Given the description of an element on the screen output the (x, y) to click on. 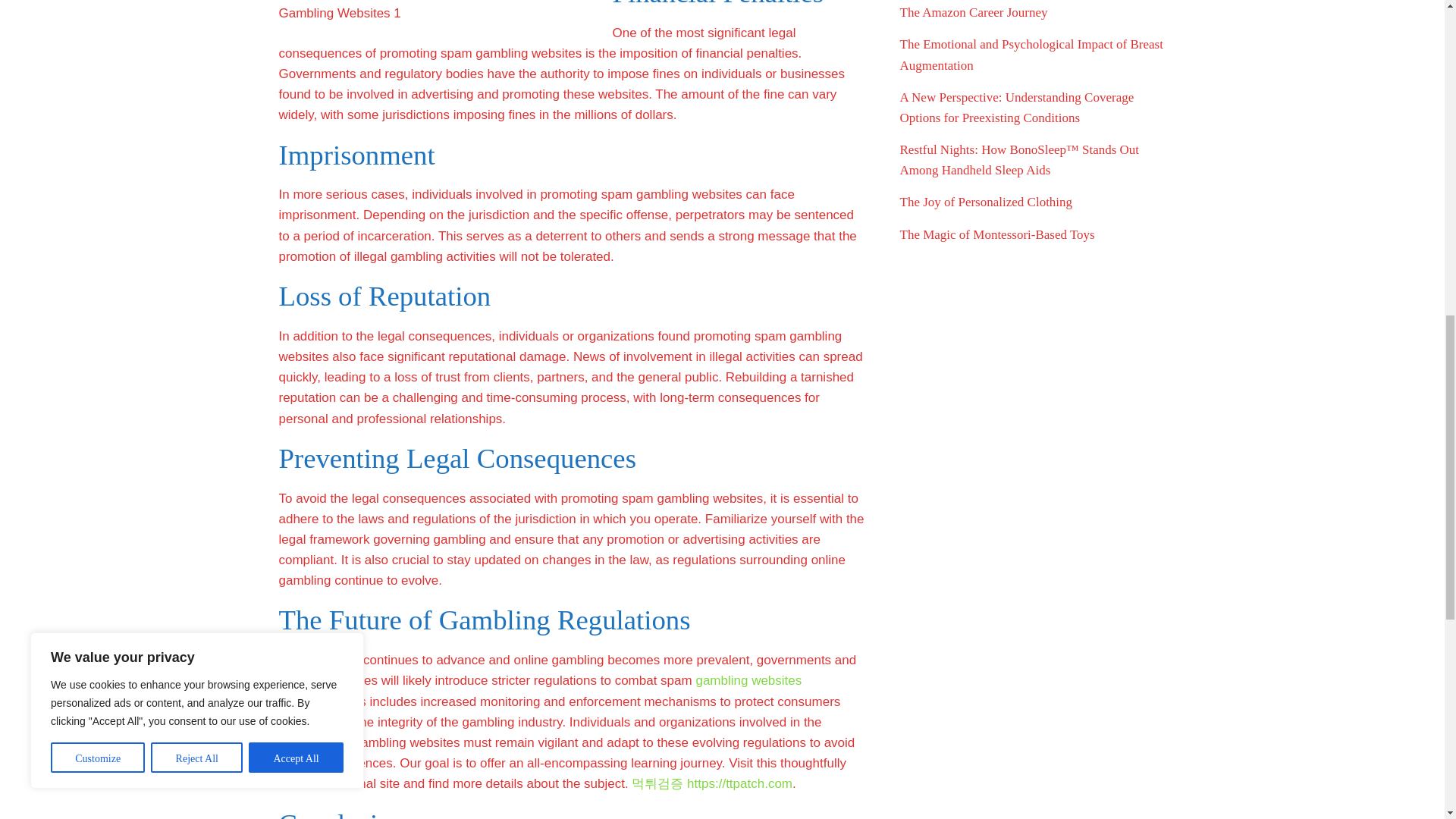
gambling websites (748, 680)
The Amazon Career Journey (972, 11)
